Given the description of an element on the screen output the (x, y) to click on. 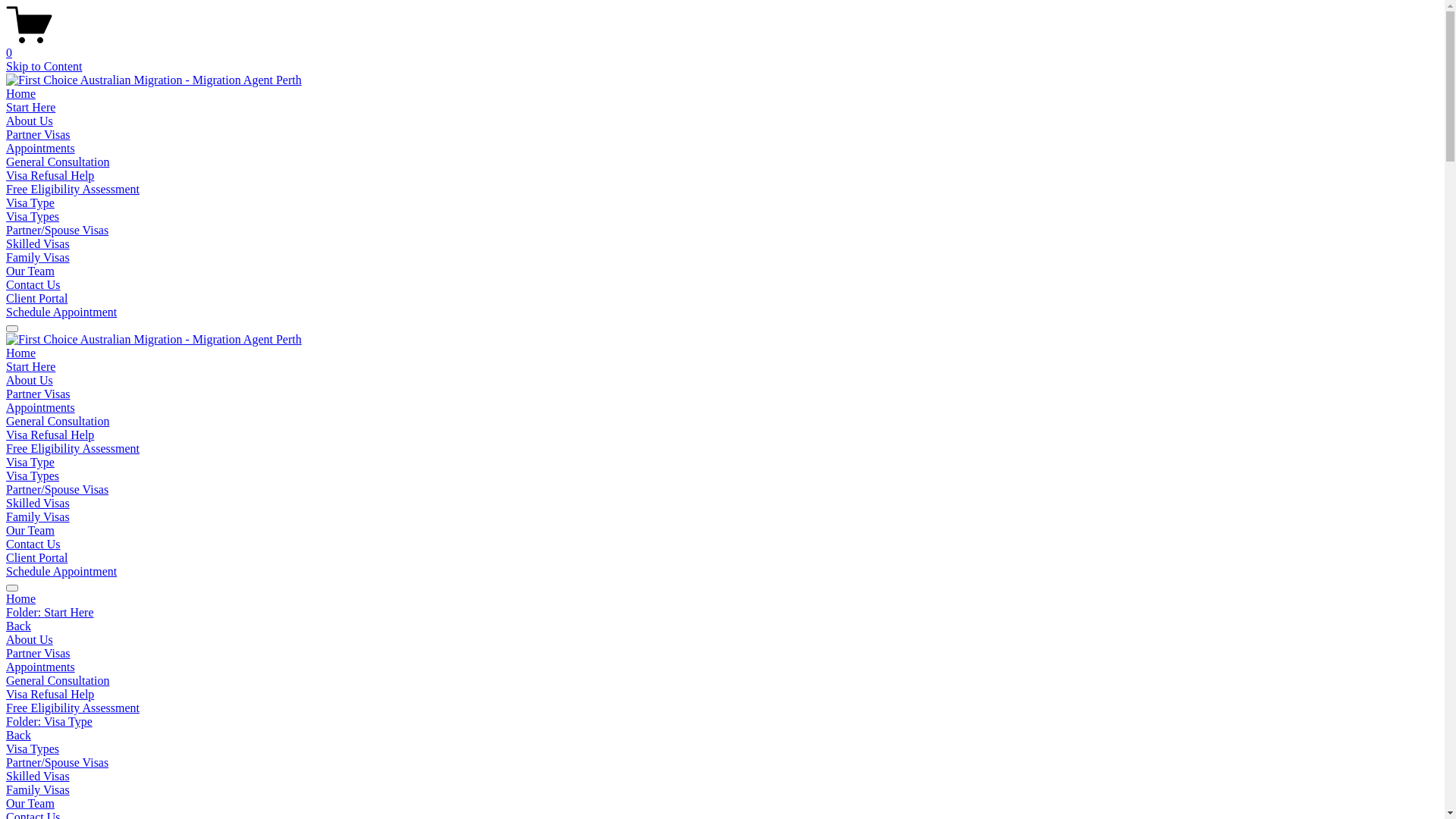
Home Element type: text (722, 598)
Our Team Element type: text (30, 530)
Back Element type: text (18, 734)
Skilled Visas Element type: text (37, 243)
Back Element type: text (18, 625)
Free Eligibility Assessment Element type: text (72, 707)
Free Eligibility Assessment Element type: text (72, 448)
Visa Refusal Help Element type: text (722, 694)
Folder: Start Here Element type: text (722, 612)
Appointments Element type: text (722, 667)
Visa Refusal Help Element type: text (50, 434)
Home Element type: text (20, 93)
Start Here Element type: text (30, 366)
Visa Refusal Help Element type: text (50, 175)
Contact Us Element type: text (33, 284)
Family Visas Element type: text (37, 257)
Skip to Content Element type: text (43, 65)
Partner/Spouse Visas Element type: text (57, 229)
Visa Type Element type: text (30, 202)
Family Visas Element type: text (722, 790)
Partner/Spouse Visas Element type: text (57, 489)
About Us Element type: text (722, 639)
Folder: Visa Type Element type: text (722, 721)
Schedule Appointment Element type: text (61, 570)
Visa Types Element type: text (32, 475)
Schedule Appointment Element type: text (61, 311)
Partner Visas Element type: text (722, 653)
Contact Us Element type: text (33, 543)
Skilled Visas Element type: text (37, 502)
Skilled Visas Element type: text (722, 776)
Client Portal Element type: text (36, 297)
Our Team Element type: text (722, 803)
Visa Types Element type: text (722, 749)
Visa Types Element type: text (32, 216)
General Consultation Element type: text (722, 680)
Home Element type: text (20, 352)
Free Eligibility Assessment Element type: text (72, 188)
About Us Element type: text (29, 379)
Partner Visas Element type: text (38, 393)
General Consultation Element type: text (57, 420)
Appointments Element type: text (40, 407)
Family Visas Element type: text (37, 516)
General Consultation Element type: text (57, 161)
Our Team Element type: text (30, 270)
Client Portal Element type: text (36, 557)
Start Here Element type: text (30, 106)
Partner/Spouse Visas Element type: text (722, 762)
Appointments Element type: text (40, 147)
0 Element type: text (722, 45)
Visa Type Element type: text (30, 461)
About Us Element type: text (29, 120)
Partner Visas Element type: text (38, 134)
